Given the description of an element on the screen output the (x, y) to click on. 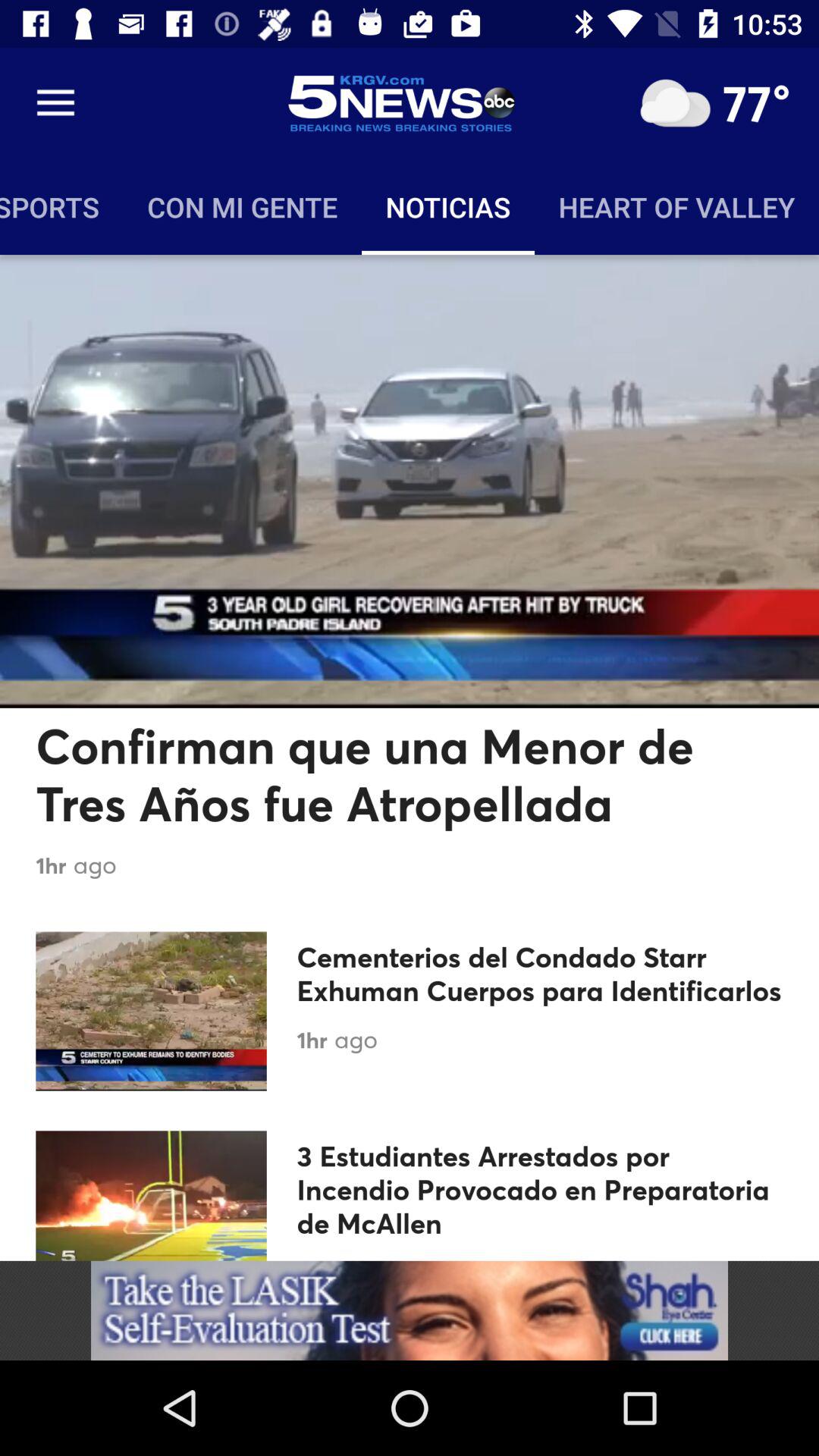
check weather status (674, 103)
